Given the description of an element on the screen output the (x, y) to click on. 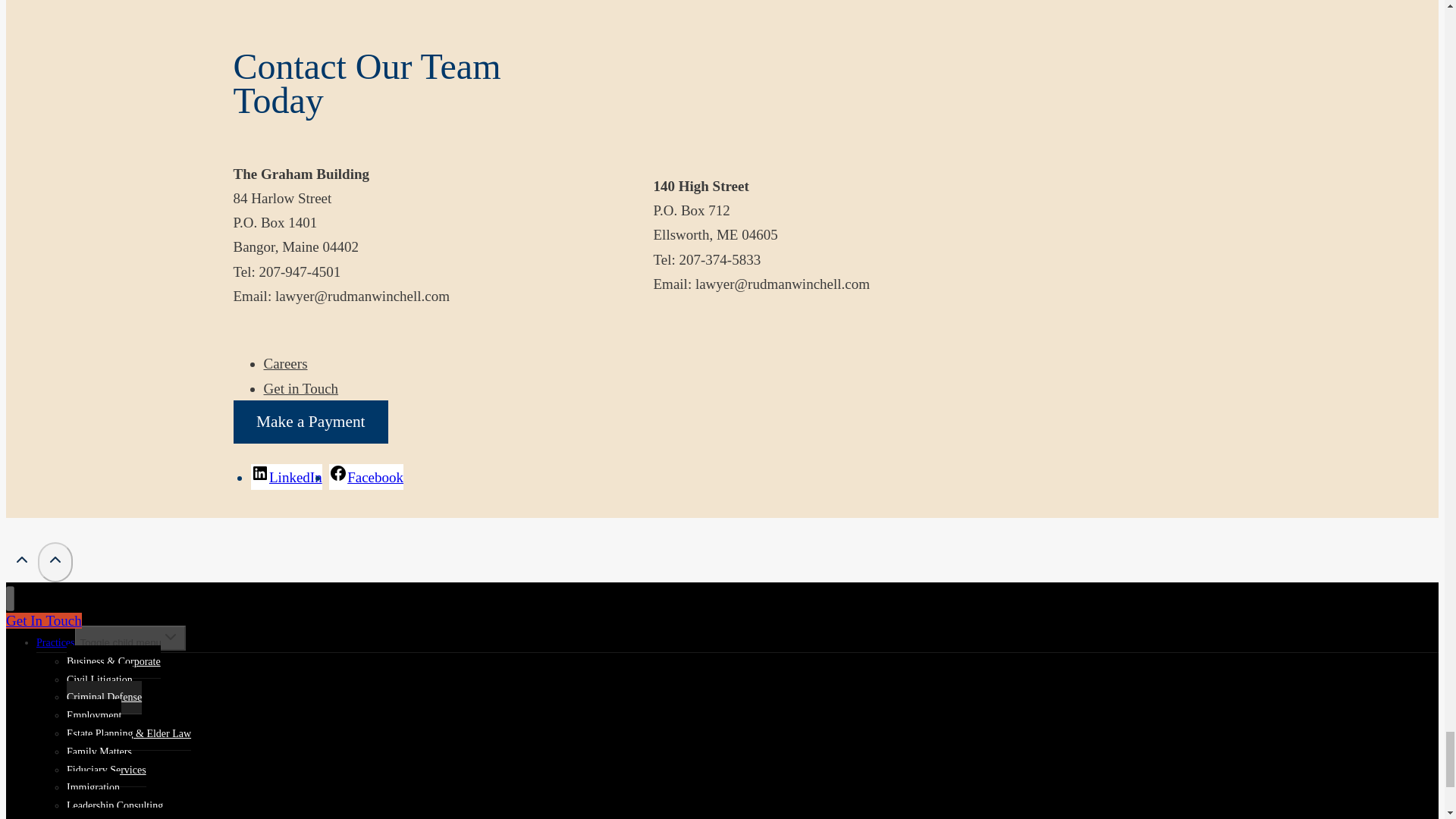
Scroll to top (54, 561)
Scroll to top (21, 559)
Scroll to top (55, 559)
Scroll to top (21, 563)
